Given the description of an element on the screen output the (x, y) to click on. 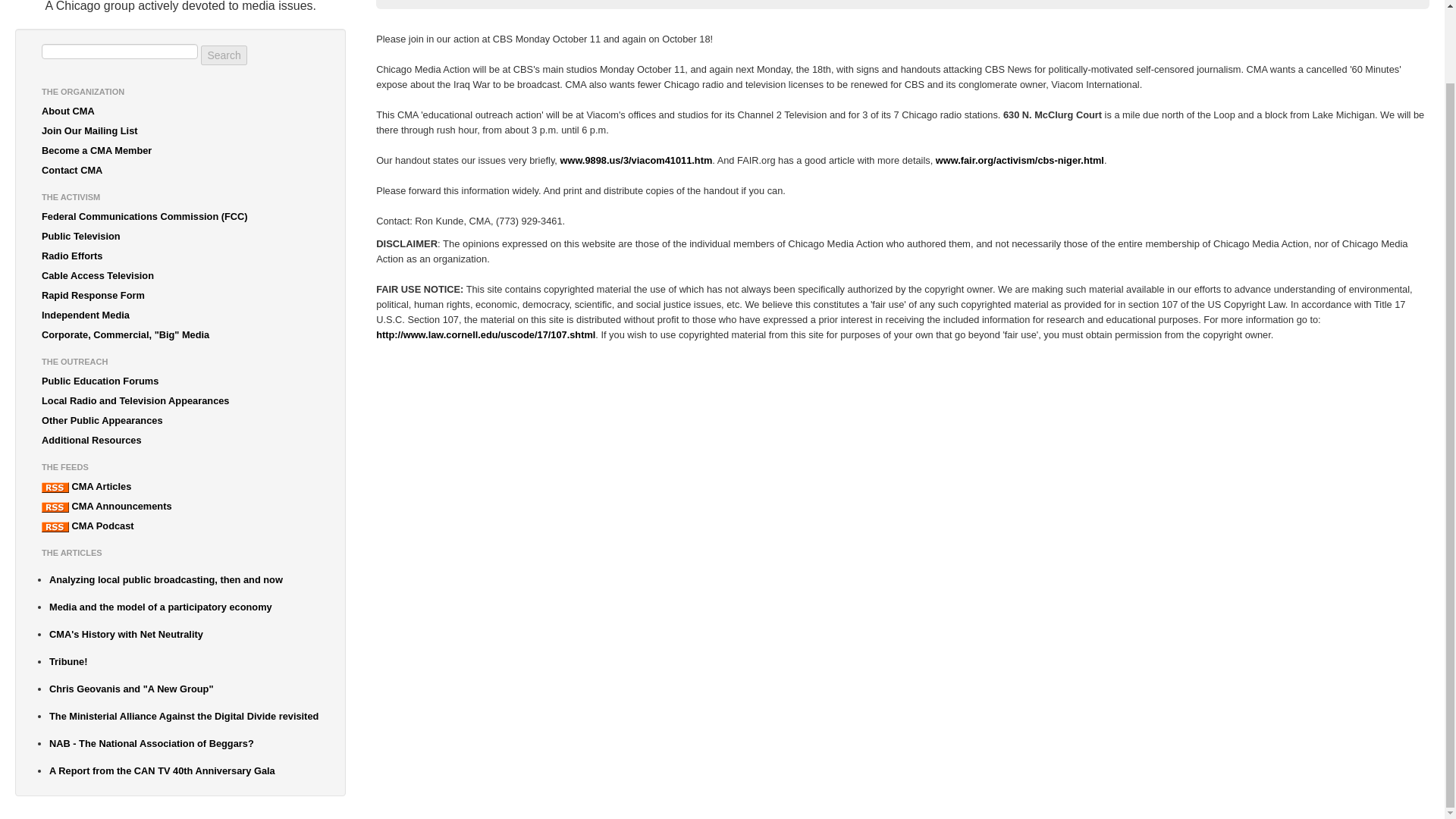
Search (223, 55)
CMA Announcements (180, 506)
Rapid Response Form (180, 295)
Tribune! (183, 661)
Chris Geovanis and "A New Group" (183, 689)
Analyzing local public broadcasting, then and now (183, 579)
Radio Efforts (180, 256)
NAB - The National Association of Beggars? (183, 743)
Media and the model of a participatory economy (183, 607)
Public Education Forums (180, 381)
Contact CMA (180, 170)
CMA Articles (180, 486)
Search (223, 55)
Other Public Appearances (180, 420)
